Given the description of an element on the screen output the (x, y) to click on. 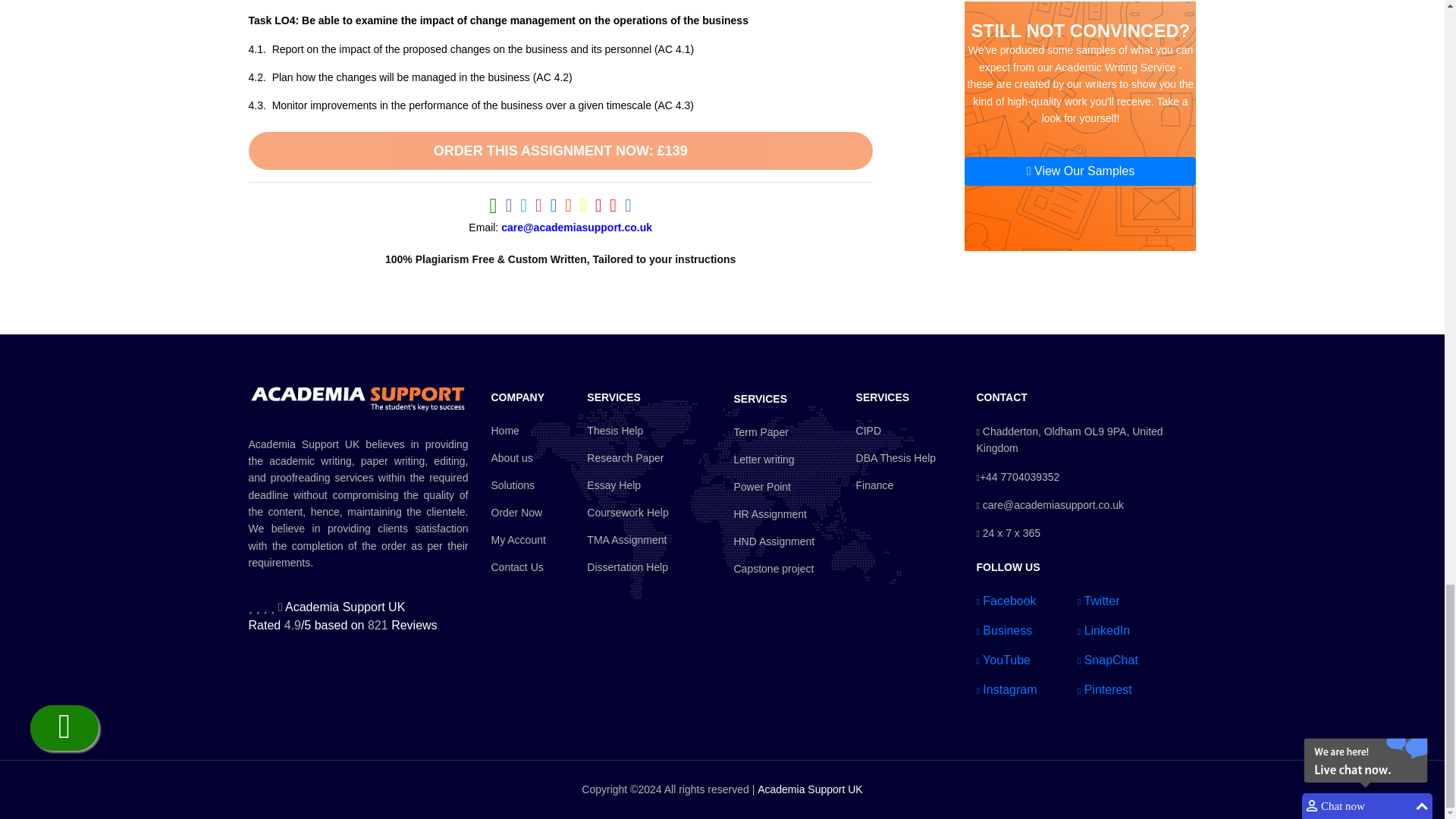
Solutions (519, 485)
About us (519, 458)
Research Paper (627, 458)
Order Now (519, 512)
Home (519, 430)
Contact Us (519, 567)
Reviews (413, 625)
